Given the description of an element on the screen output the (x, y) to click on. 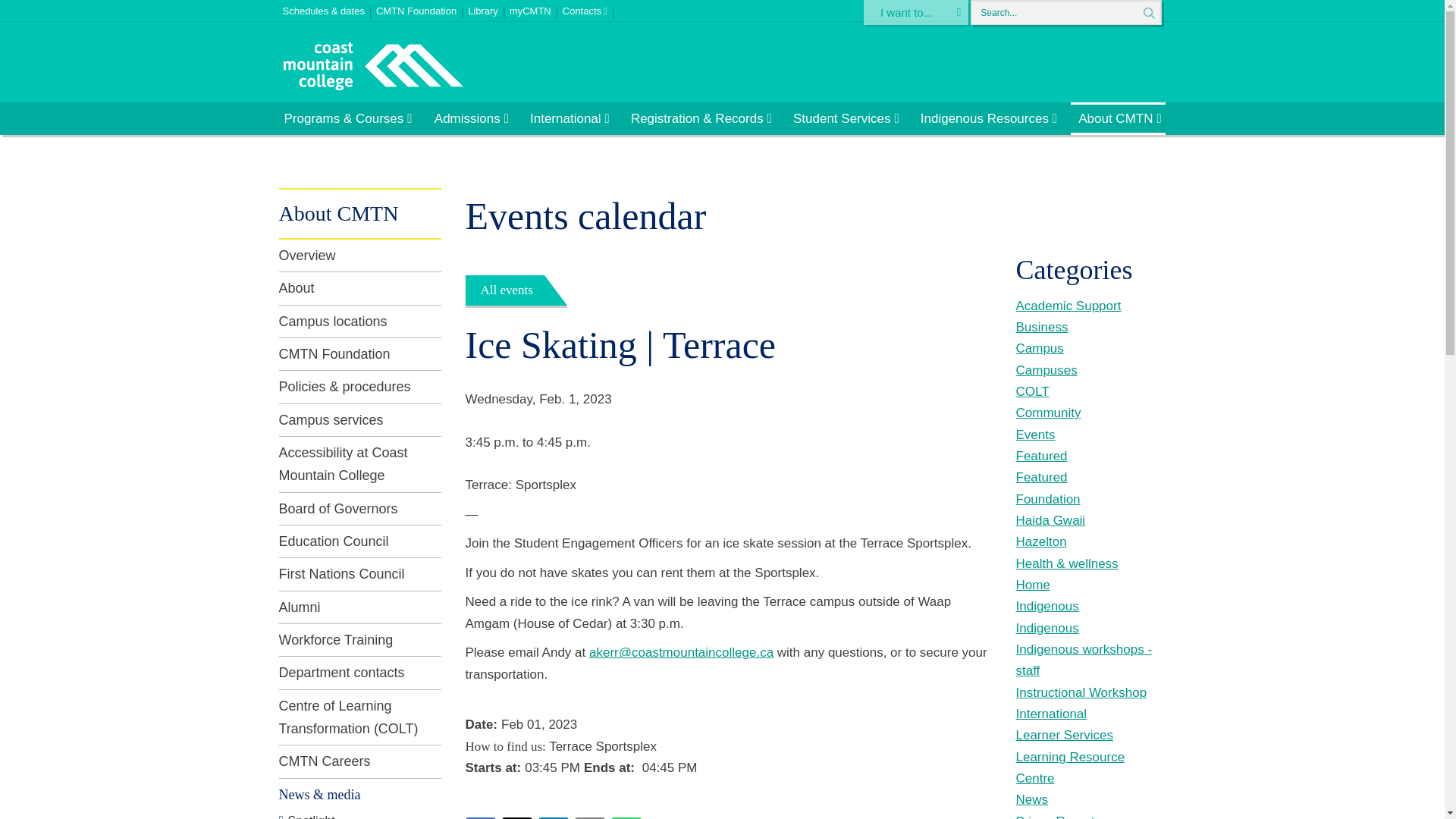
Search (1148, 12)
I want to... (915, 12)
Contacts (590, 7)
myCMTN (535, 7)
Search (1148, 12)
CMTN Foundation (421, 7)
Library (488, 7)
